Given the description of an element on the screen output the (x, y) to click on. 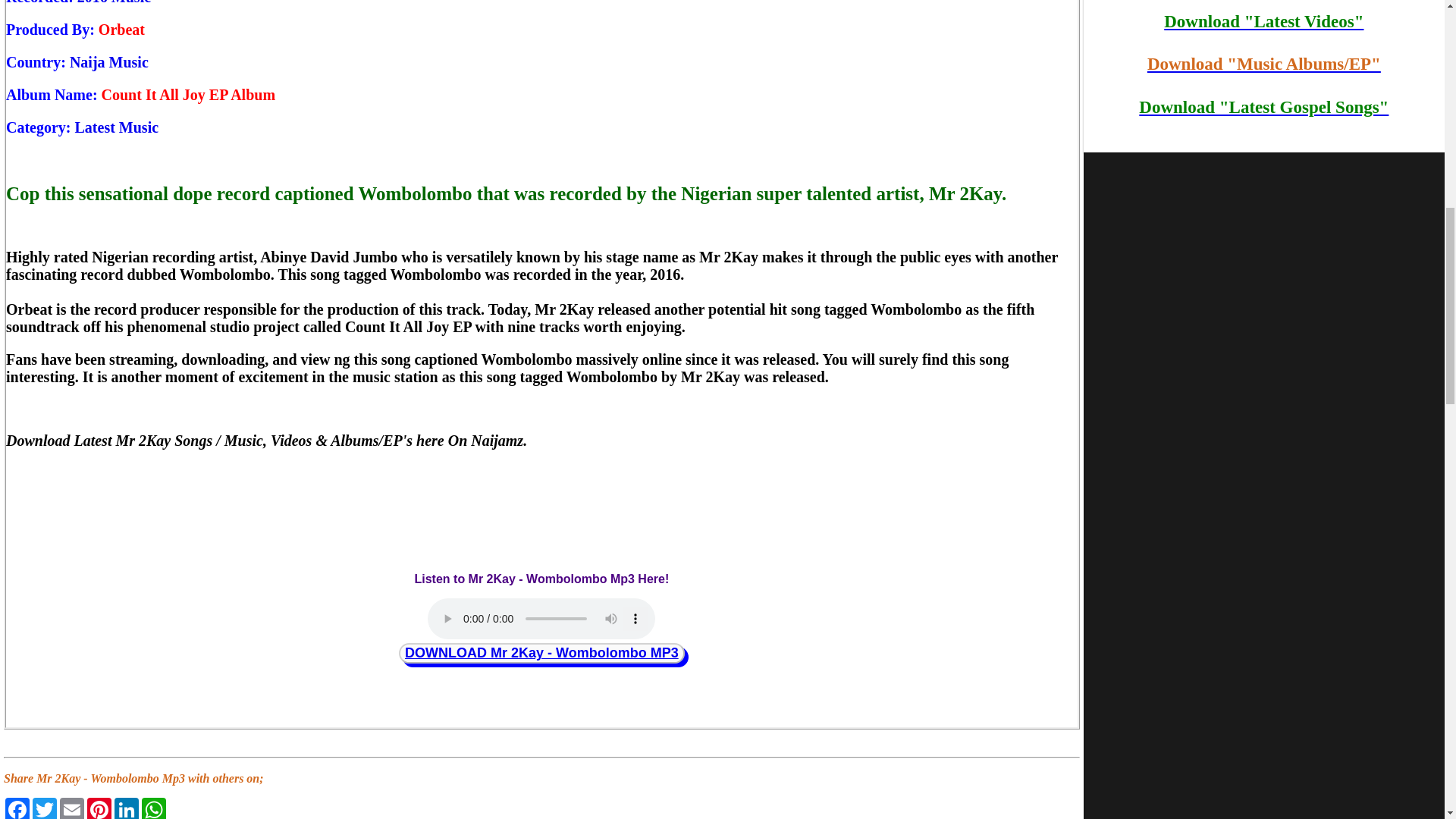
Latest Music (116, 126)
Pinterest (99, 808)
Facebook (17, 808)
Email (71, 808)
LinkedIn (126, 808)
Twitter (44, 808)
DOWNLOAD Mr 2Kay - Wombolombo MP3 (541, 652)
Naija Music (108, 62)
2016 Music (114, 2)
Count It All Joy EP Album (188, 94)
DOWNLOAD Mr 2Kay - Wombolombo MP3 (541, 652)
WhatsApp (153, 808)
